Given the description of an element on the screen output the (x, y) to click on. 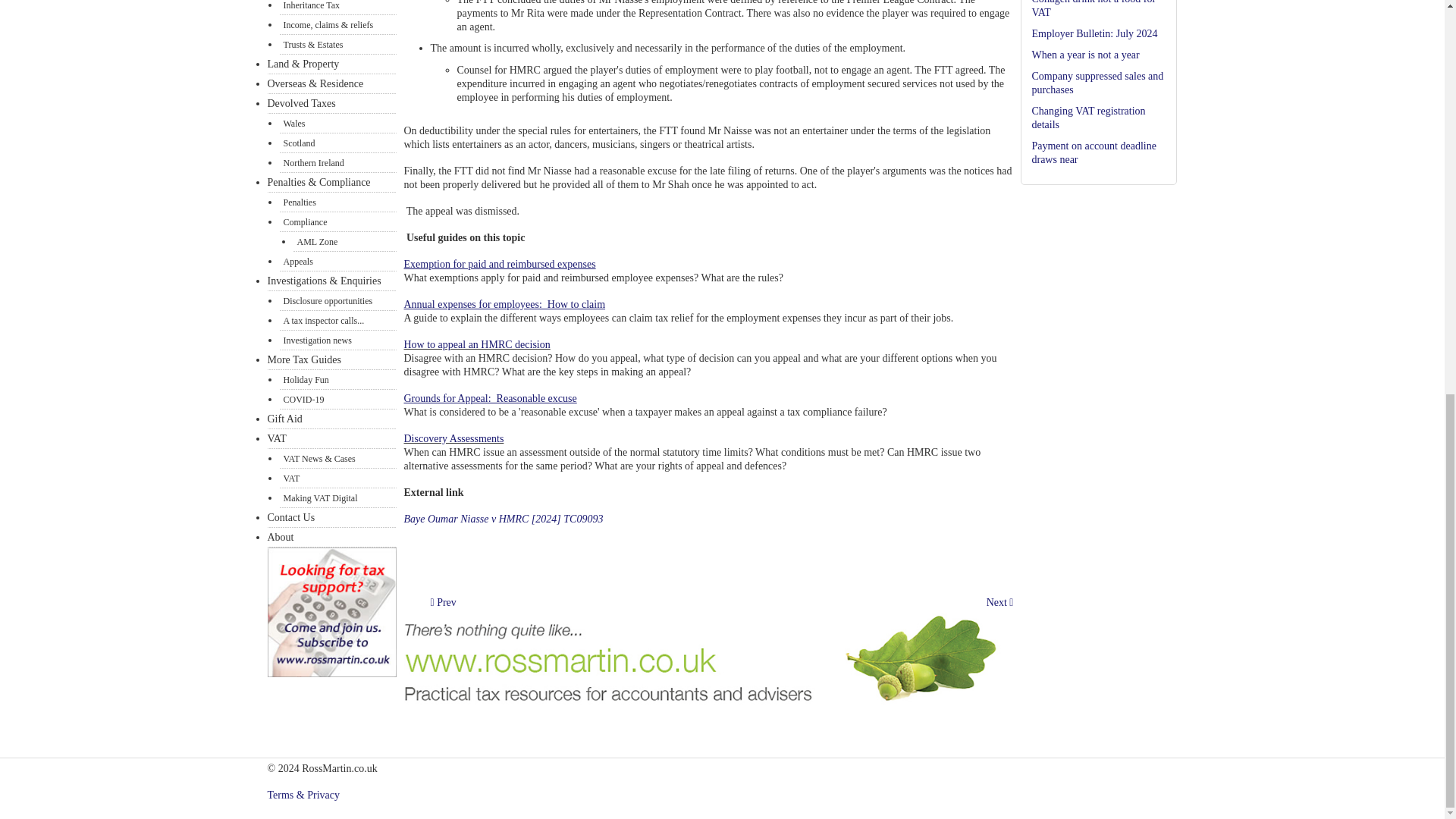
Change to reporting of salary advances  (1000, 602)
Tax support (331, 673)
Tax Administration and Maintenance Day  (443, 602)
